Given the description of an element on the screen output the (x, y) to click on. 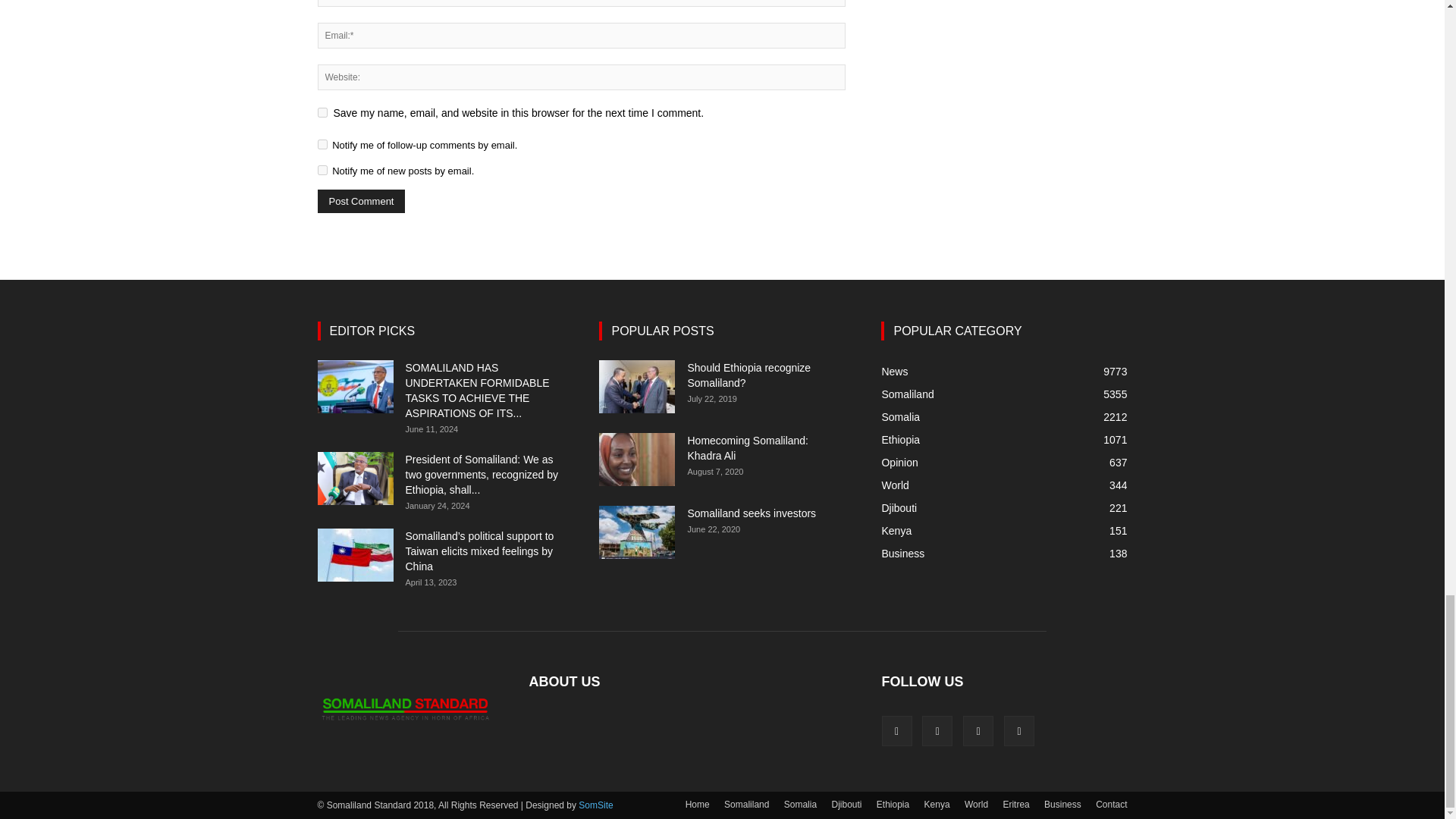
subscribe (321, 144)
Post Comment (360, 200)
subscribe (321, 170)
yes (321, 112)
